Given the description of an element on the screen output the (x, y) to click on. 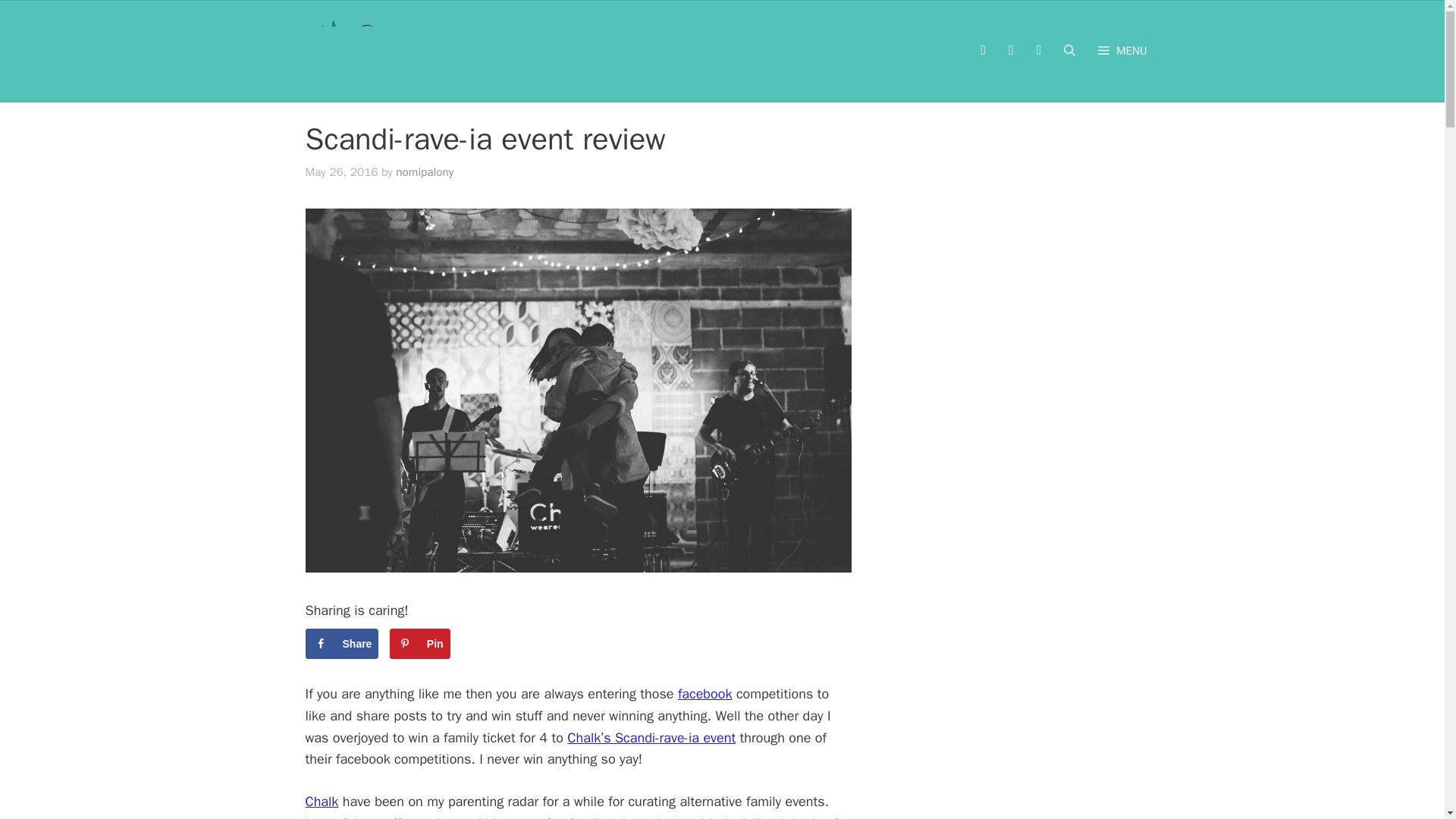
Pin (419, 643)
nomipalony (424, 171)
facebook (705, 693)
Save to Pinterest (419, 643)
Share on Facebook (341, 643)
Chalk (320, 801)
Share (341, 643)
Nomipalony (362, 50)
View all posts by nomipalony (424, 171)
